Given the description of an element on the screen output the (x, y) to click on. 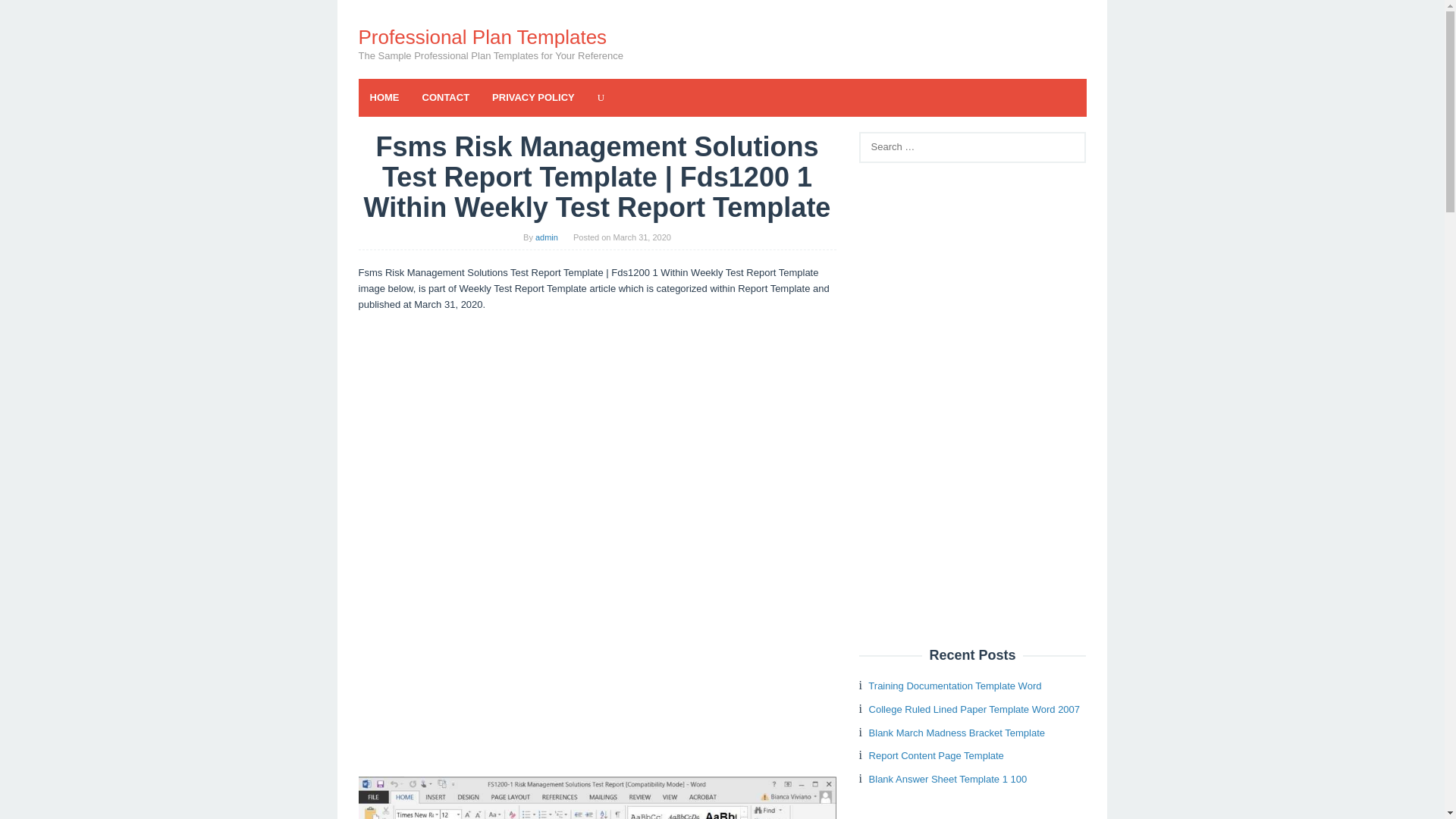
Professional Plan Templates (482, 36)
Advertisement (596, 653)
Blank March Madness Bracket Template (957, 732)
College Ruled Lined Paper Template Word 2007 (974, 708)
Report Content Page Template (936, 755)
CONTACT (445, 97)
Permalink to: admin (546, 236)
Professional Plan Templates (482, 36)
admin (546, 236)
Training Documentation Template Word (954, 685)
PRIVACY POLICY (533, 97)
Search (27, 15)
HOME (384, 97)
Blank Answer Sheet Template 1 100 (948, 778)
